Given the description of an element on the screen output the (x, y) to click on. 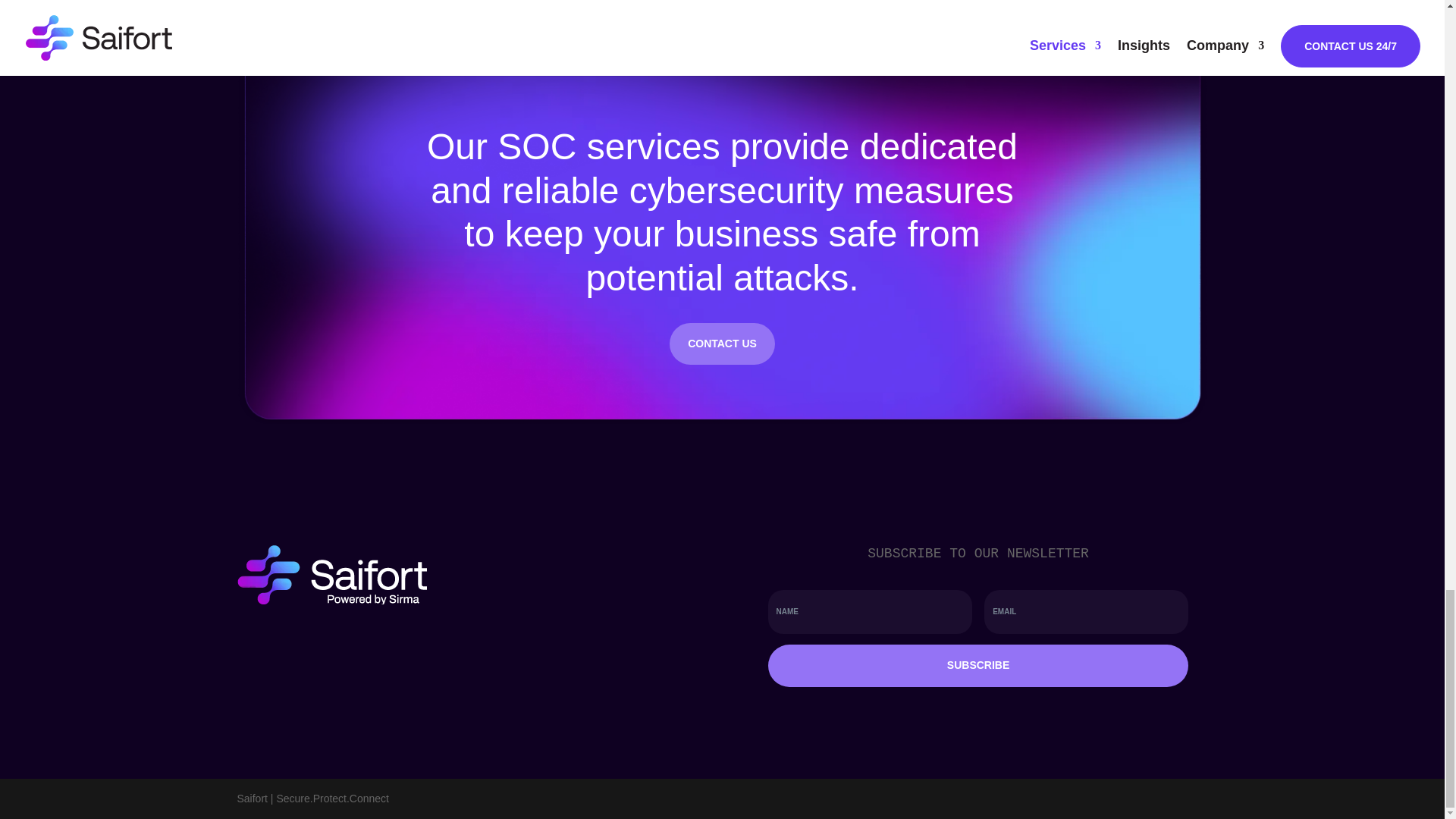
SUBSCRIBE (978, 665)
Saifort-Logo-Footer (330, 574)
CONTACT US (721, 343)
